Given the description of an element on the screen output the (x, y) to click on. 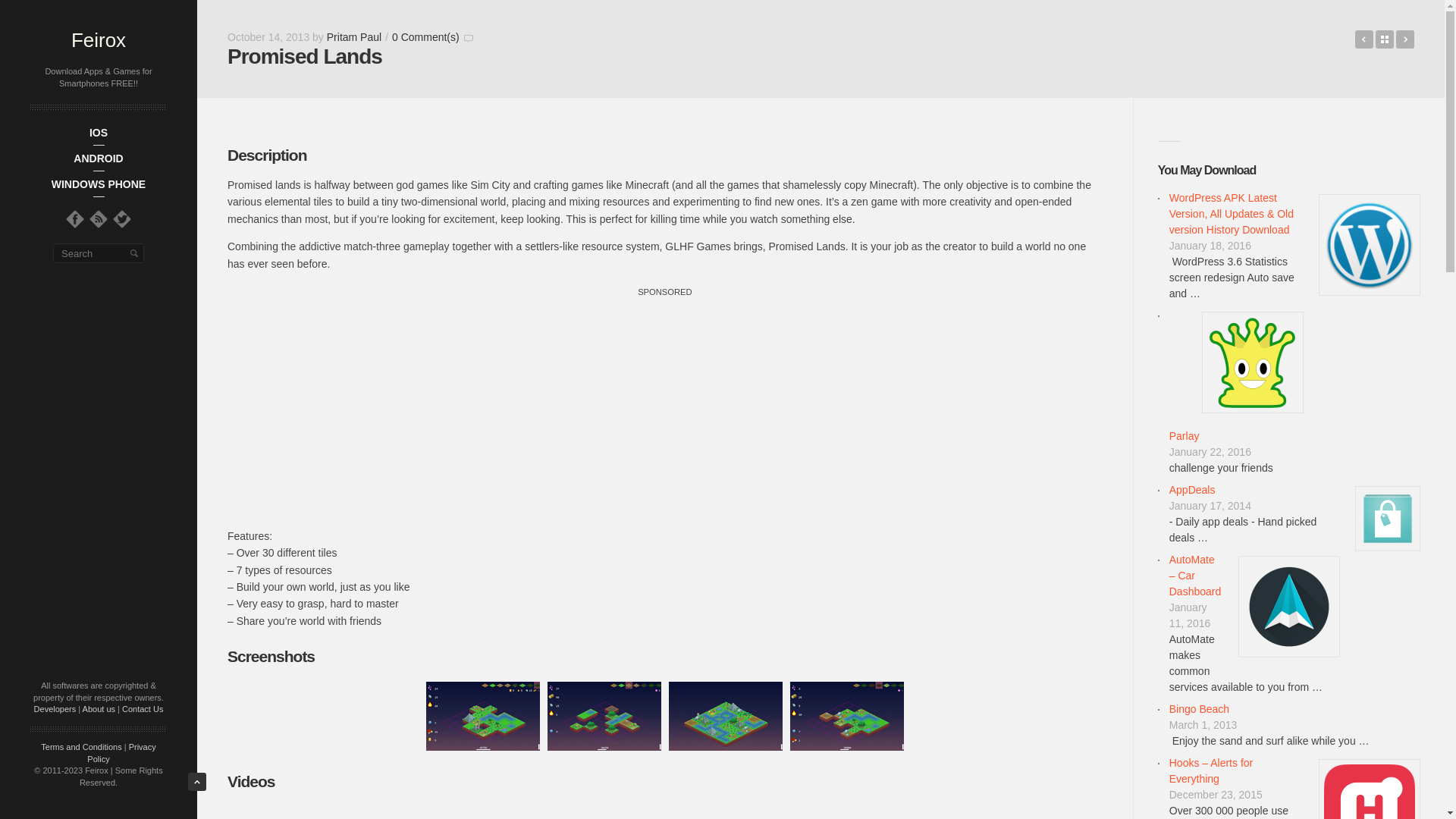
View all posts by Pritam Paul (353, 37)
Skip to primary content (147, 136)
Feirox (98, 40)
ANDROID (98, 158)
Follow us on Twitter (122, 218)
Follow us on RSS (97, 218)
Follow us on Facebook (74, 218)
Back to Blog (1384, 39)
Feirox (98, 40)
IOS (98, 132)
Skip to primary content (147, 136)
Search (133, 252)
